Given the description of an element on the screen output the (x, y) to click on. 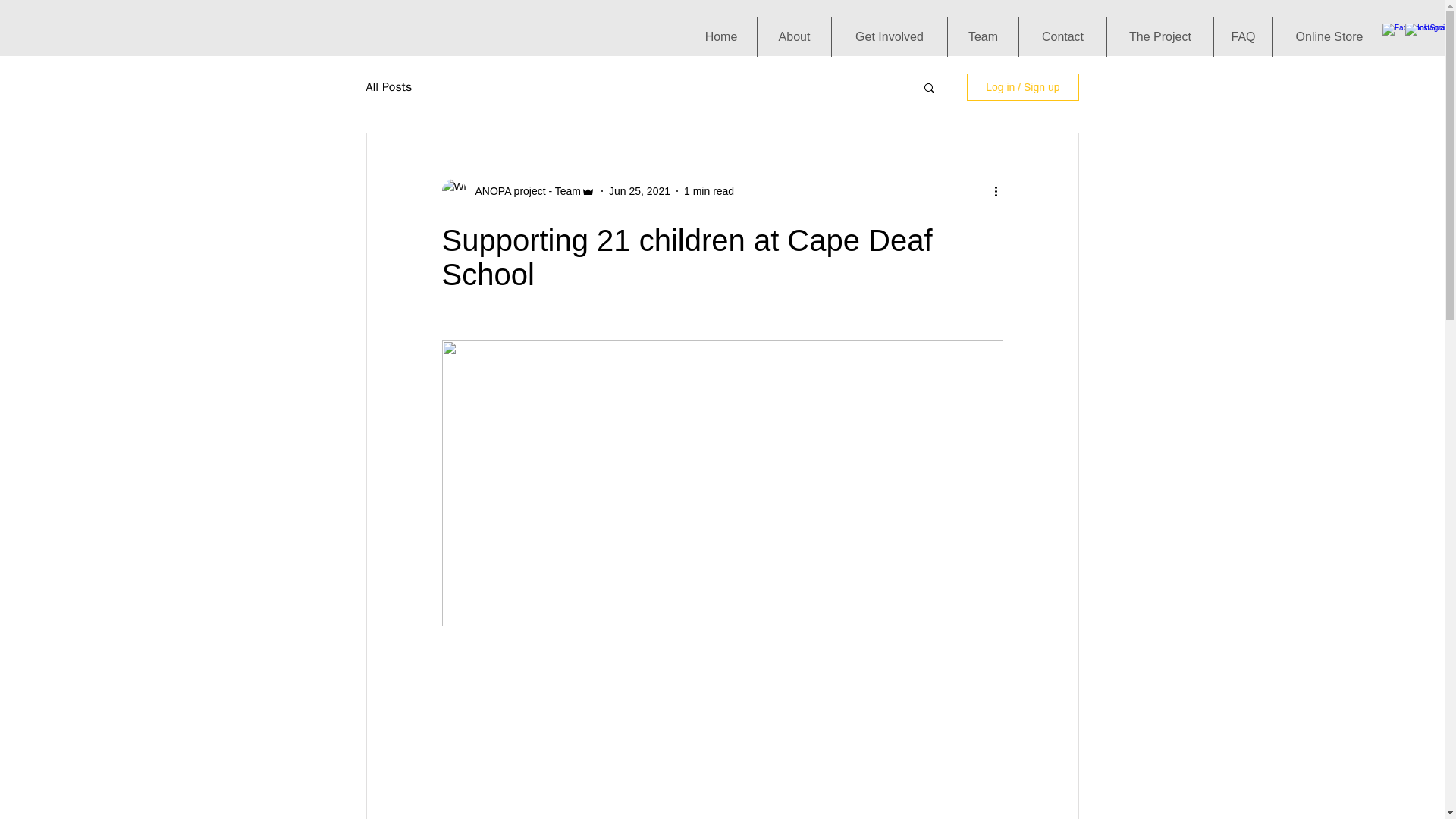
All Posts (388, 86)
FAQ (1243, 36)
Team (982, 36)
Jun 25, 2021 (638, 191)
Online Store (1329, 36)
Contact (1062, 36)
ANOPA project - Team (522, 191)
The Project (1159, 36)
1 min read (708, 191)
About (794, 36)
